Given the description of an element on the screen output the (x, y) to click on. 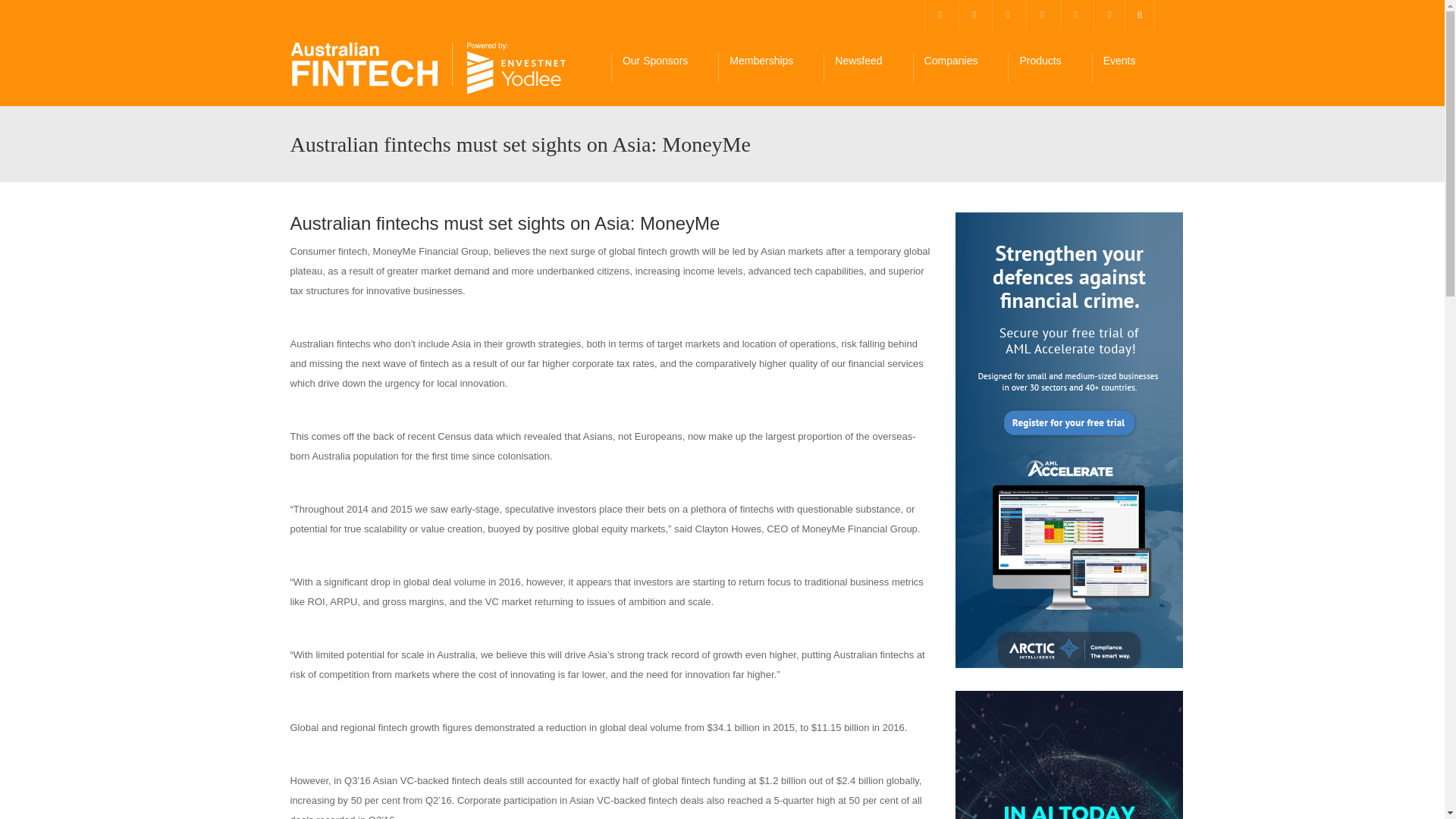
Products (1048, 68)
Events (1129, 68)
Our Sponsors (664, 68)
Australian fintechs must set sights on Asia: MoneyMe (428, 67)
Newsfeed (868, 68)
Companies (960, 68)
Memberships (770, 68)
